Given the description of an element on the screen output the (x, y) to click on. 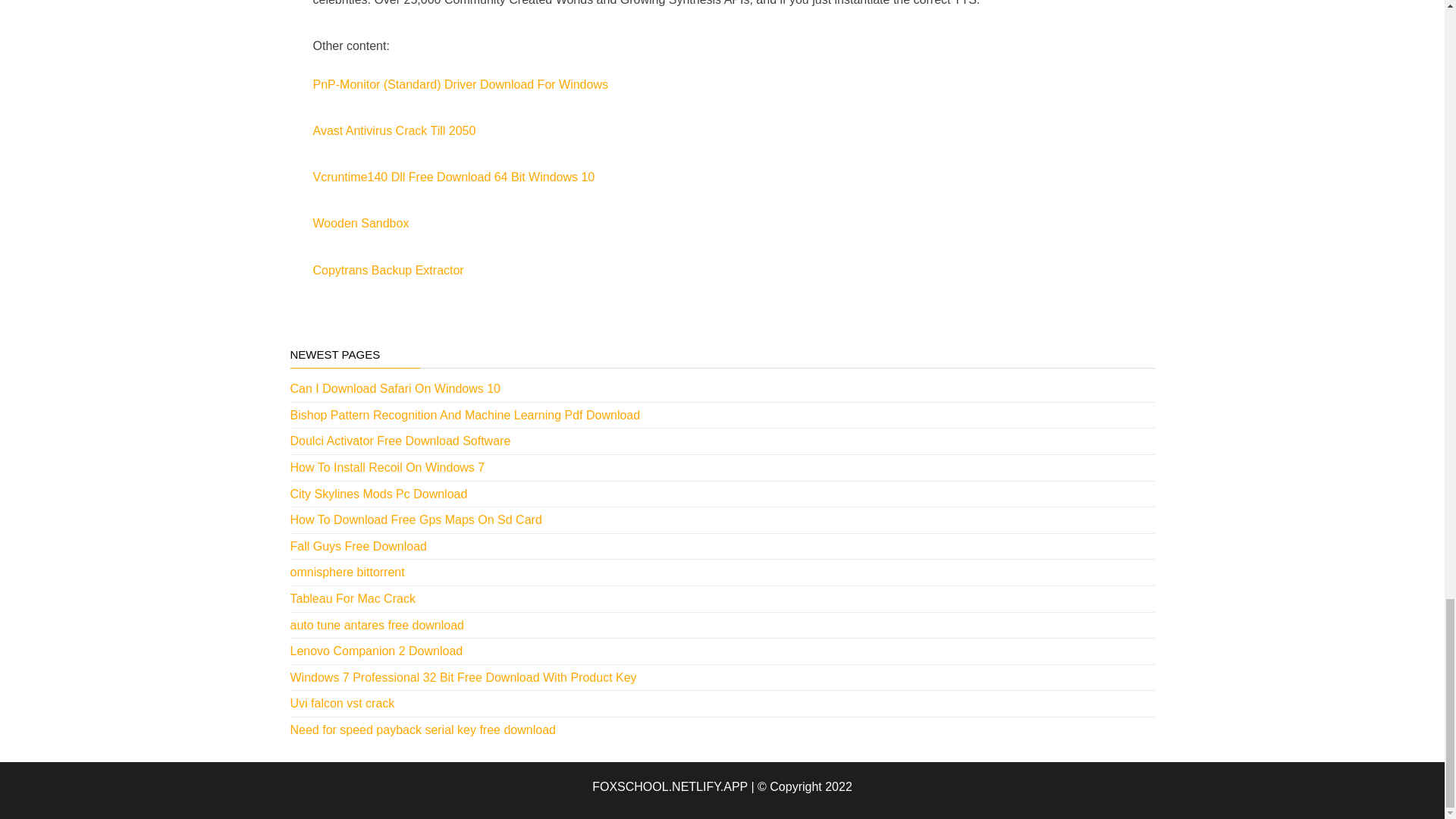
Avast Antivirus Crack Till 2050 (394, 130)
Doulci Activator Free Download Software (400, 440)
Bishop Pattern Recognition And Machine Learning Pdf Download (464, 414)
Wooden Sandbox (361, 223)
How To Install Recoil On Windows 7 (386, 467)
Tableau For Mac Crack (351, 598)
omnisphere bittorrent (346, 571)
Vcruntime140 Dll Free Download 64 Bit Windows 10 (453, 176)
Can I Download Safari On Windows 10 (394, 388)
Fall Guys Free Download (357, 545)
Copytrans Backup Extractor (388, 269)
How To Download Free Gps Maps On Sd Card (415, 519)
City Skylines Mods Pc Download (378, 493)
